Given the description of an element on the screen output the (x, y) to click on. 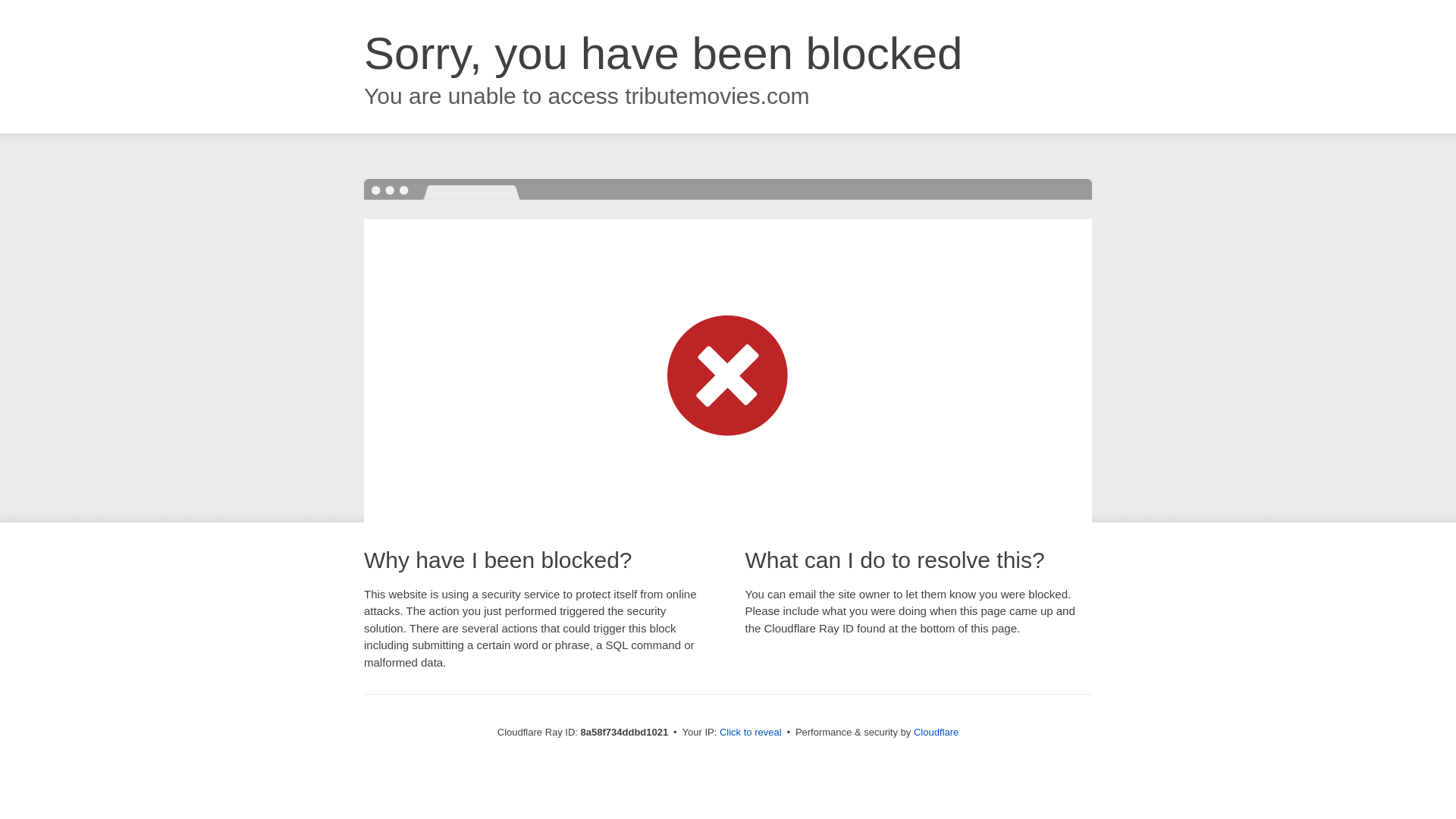
Click to reveal (750, 732)
Cloudflare (936, 731)
